Given the description of an element on the screen output the (x, y) to click on. 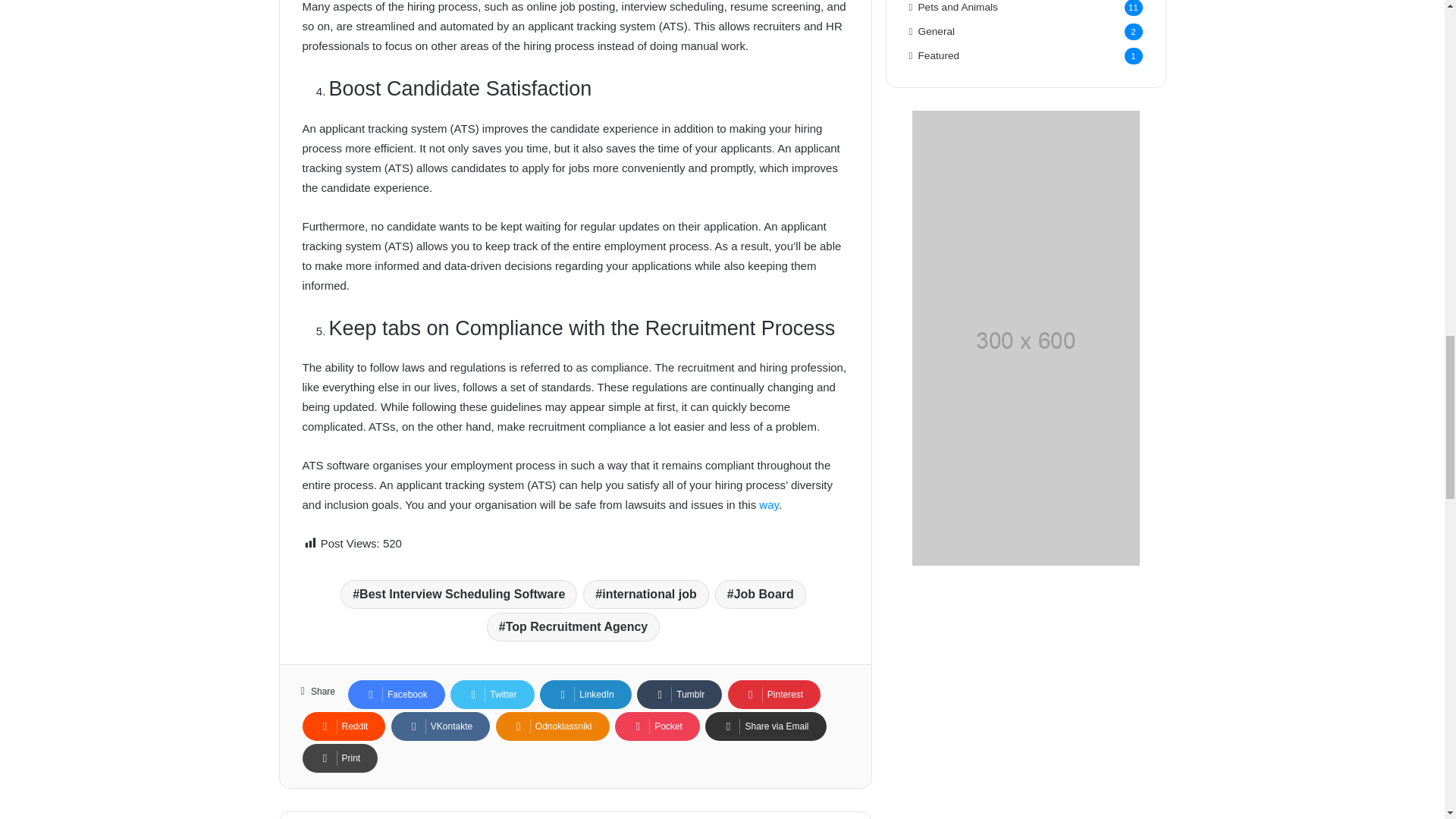
Odnoklassniki (553, 726)
Twitter (491, 694)
LinkedIn (585, 694)
Job Board (760, 594)
Facebook (396, 694)
VKontakte (440, 726)
Pinterest (774, 694)
Twitter (491, 694)
Top Recruitment Agency (572, 626)
Facebook (396, 694)
Reddit (343, 726)
Tumblr (679, 694)
international job (645, 594)
Best Interview Scheduling Software (458, 594)
way (768, 504)
